Given the description of an element on the screen output the (x, y) to click on. 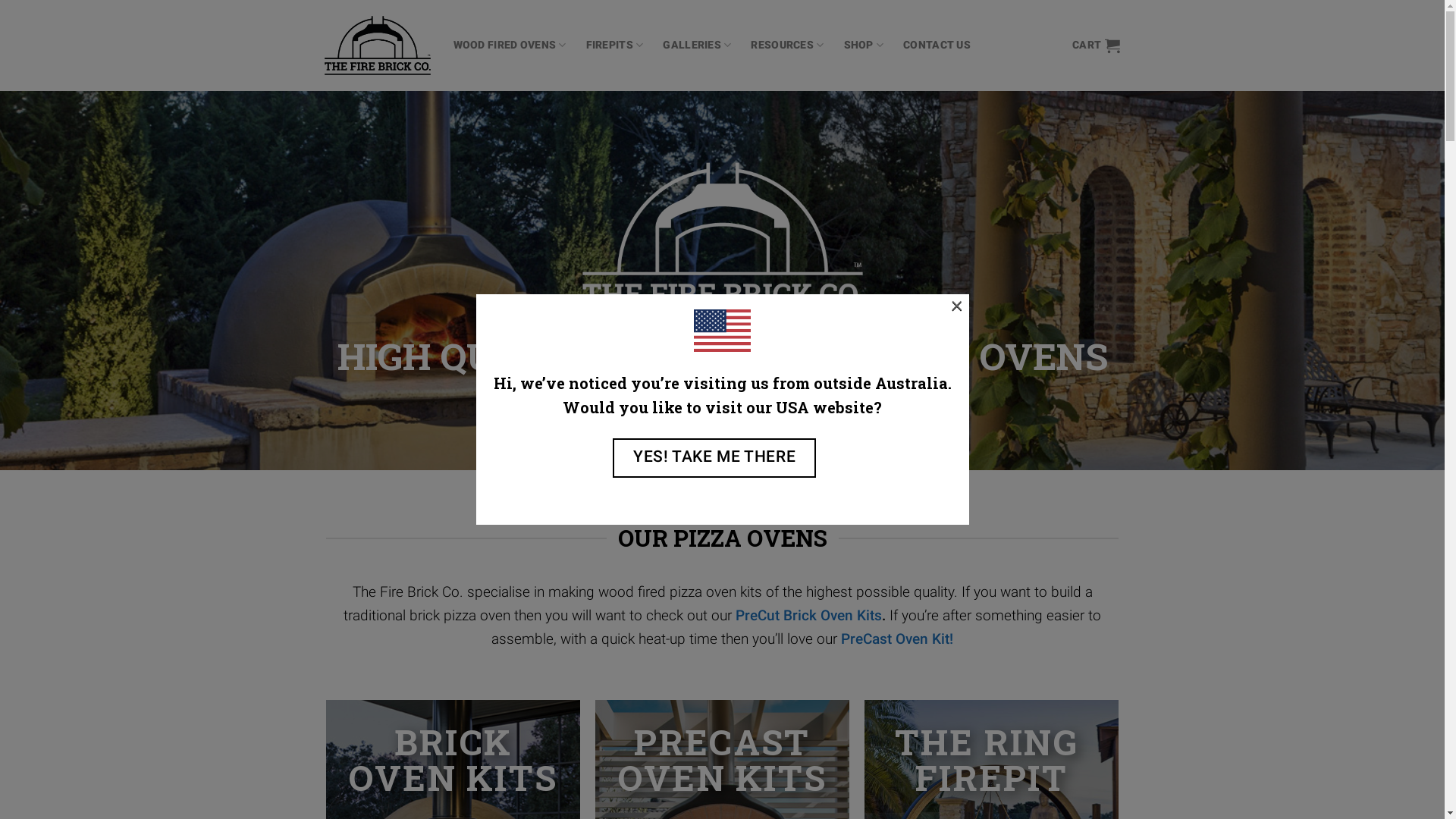
CART Element type: text (1096, 45)
PreCast Oven Kit! Element type: text (896, 638)
PreCut Brick Oven Kits Element type: text (808, 615)
FIREPITS Element type: text (614, 44)
GALLERIES Element type: text (696, 44)
SHOP Element type: text (864, 44)
CONTACT US Element type: text (936, 45)
WOOD FIRED OVENS Element type: text (509, 44)
RESOURCES Element type: text (786, 44)
YES! TAKE ME THERE Element type: text (713, 457)
